Given the description of an element on the screen output the (x, y) to click on. 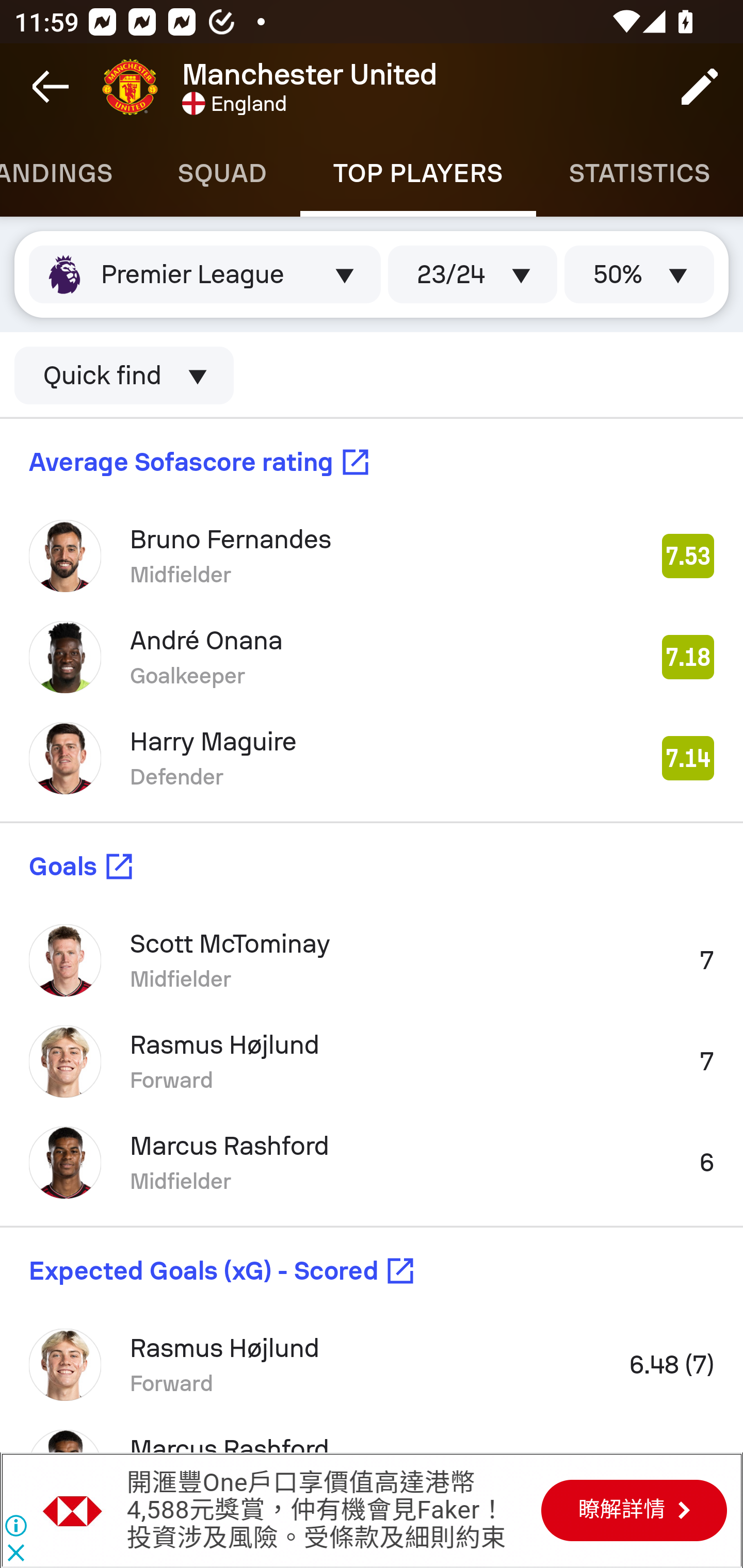
Navigate up (50, 86)
Edit (699, 86)
Standings STANDINGS (72, 173)
Squad SQUAD (222, 173)
Statistics STATISTICS (639, 173)
Premier League (204, 274)
23/24 (472, 274)
50% (639, 274)
Quick find (124, 375)
Average Sofascore rating (371, 461)
Bruno Fernandes Midfielder 7.53 (371, 555)
André Onana Goalkeeper 7.18 (371, 656)
Harry Maguire Defender 7.14 (371, 758)
Goals (371, 866)
Scott McTominay Midfielder 7 (371, 960)
Rasmus Højlund Forward 7 (371, 1061)
Marcus Rashford Midfielder 6 (371, 1162)
Expected Goals (xG) - Scored (371, 1270)
Rasmus Højlund Forward 6.48 (7) (371, 1364)
滙豐 (73, 1510)
瞭解詳情 (634, 1509)
